Given the description of an element on the screen output the (x, y) to click on. 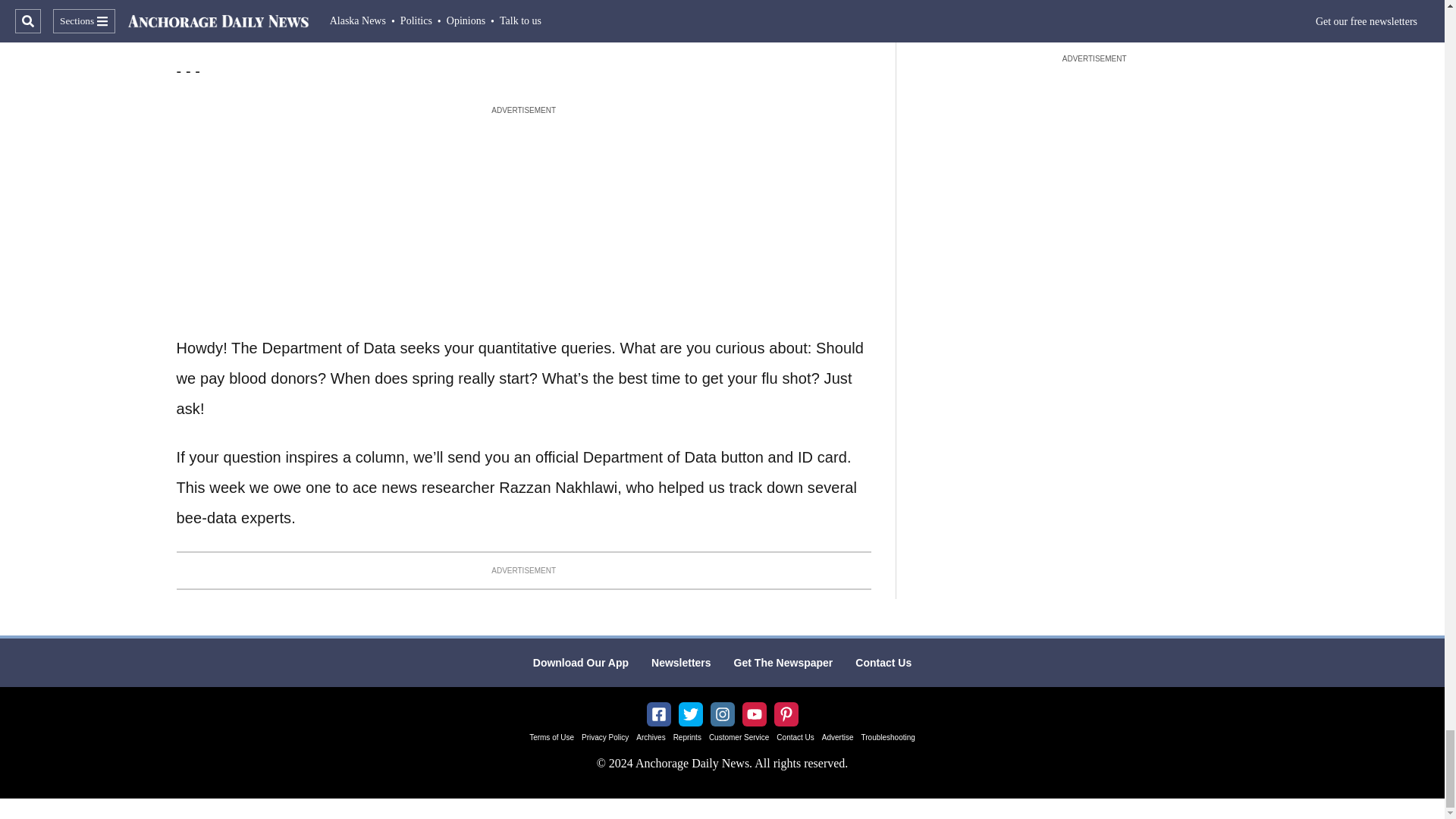
YouTube iconAnchorage Daily News YouTube channel (753, 713)
Twitter IconTwitter Account for Anchorage Daily News (689, 713)
Facebook IconAnchorage Daily News Facebook Page (657, 713)
Instagram IconAnchorage Daily News instagram account (721, 713)
PinterestAnchorage Daily News Pinterest Account (785, 713)
